Given the description of an element on the screen output the (x, y) to click on. 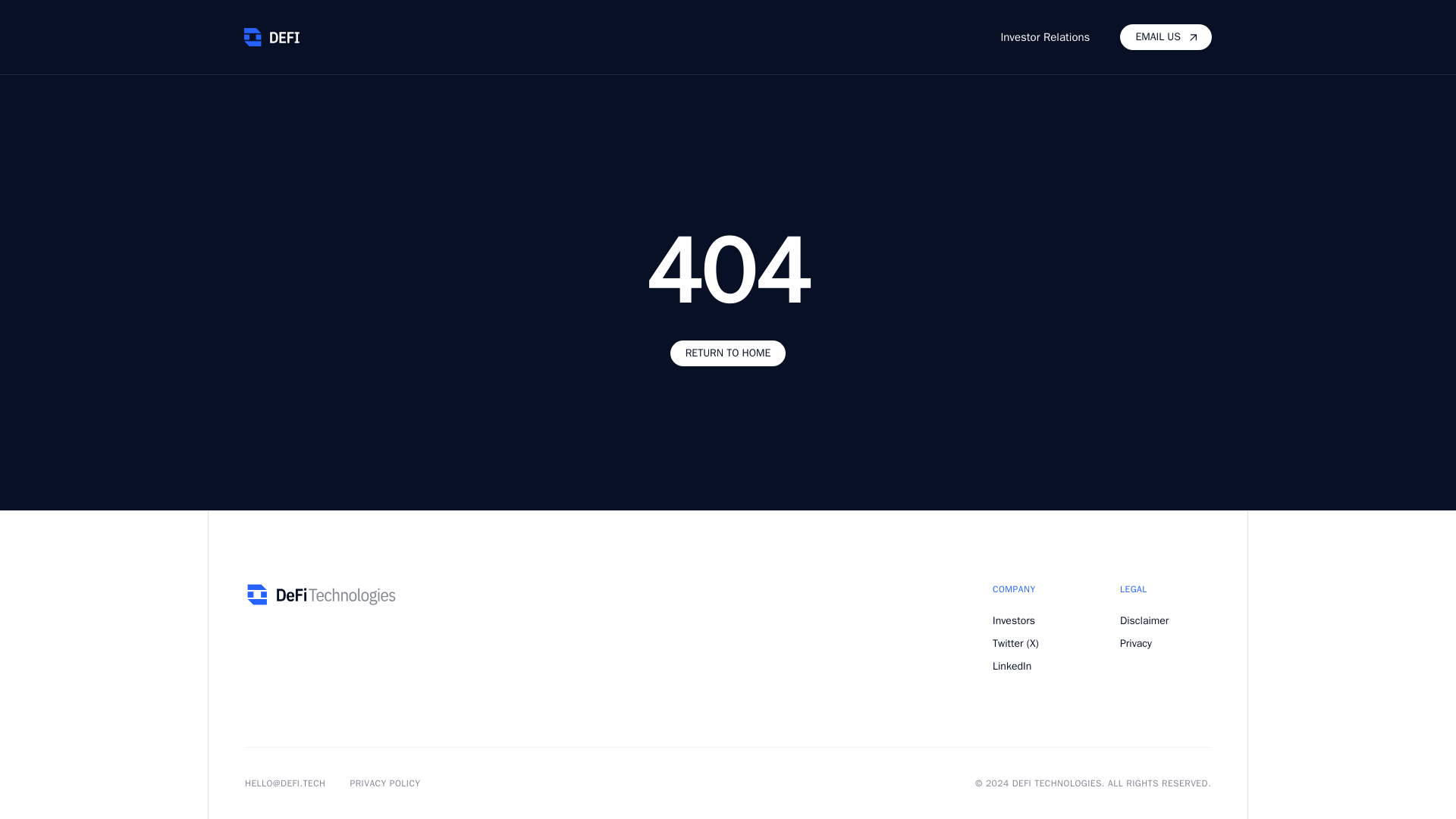
EMAIL US (1165, 36)
Disclaimer (1165, 620)
Investors (1037, 620)
PRIVACY POLICY (384, 783)
Investor Relations (1045, 37)
LinkedIn (1037, 666)
RETURN TO HOME (727, 353)
Privacy (1165, 643)
